Given the description of an element on the screen output the (x, y) to click on. 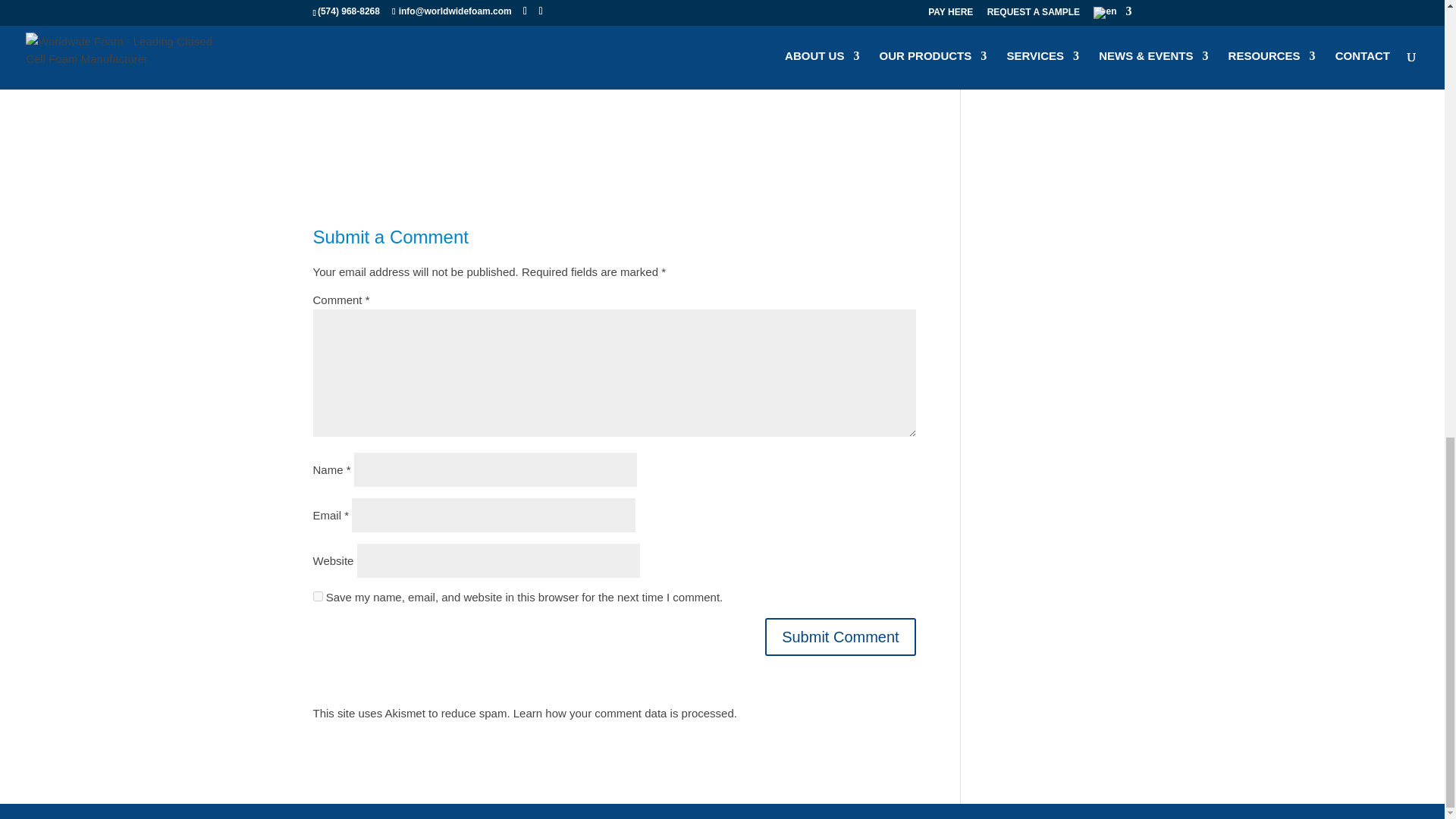
Submit Comment (840, 637)
yes (317, 596)
